Given the description of an element on the screen output the (x, y) to click on. 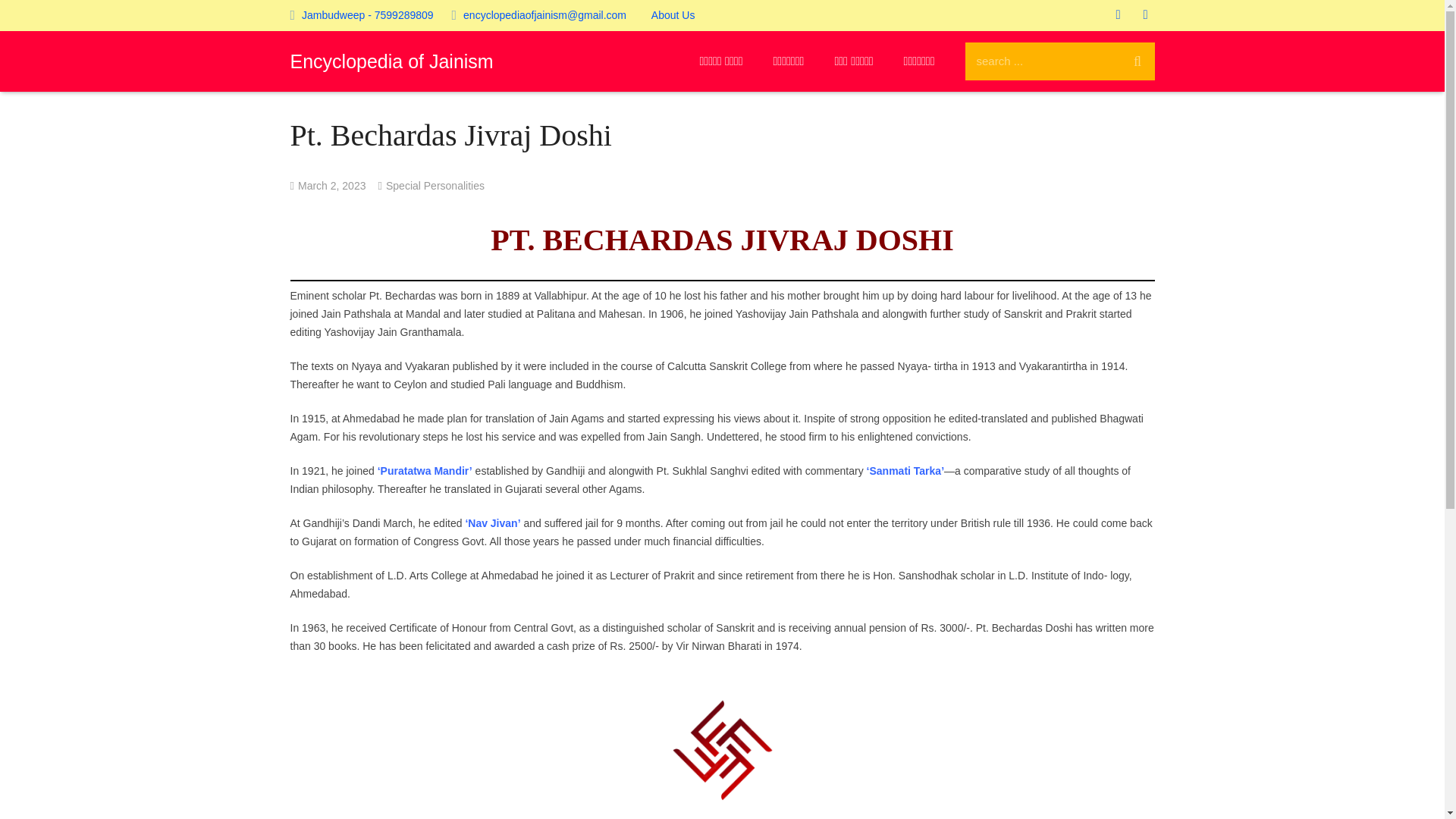
Encyclopedia of Jainism (391, 61)
About Us (672, 15)
Special Personalities (434, 185)
